Given the description of an element on the screen output the (x, y) to click on. 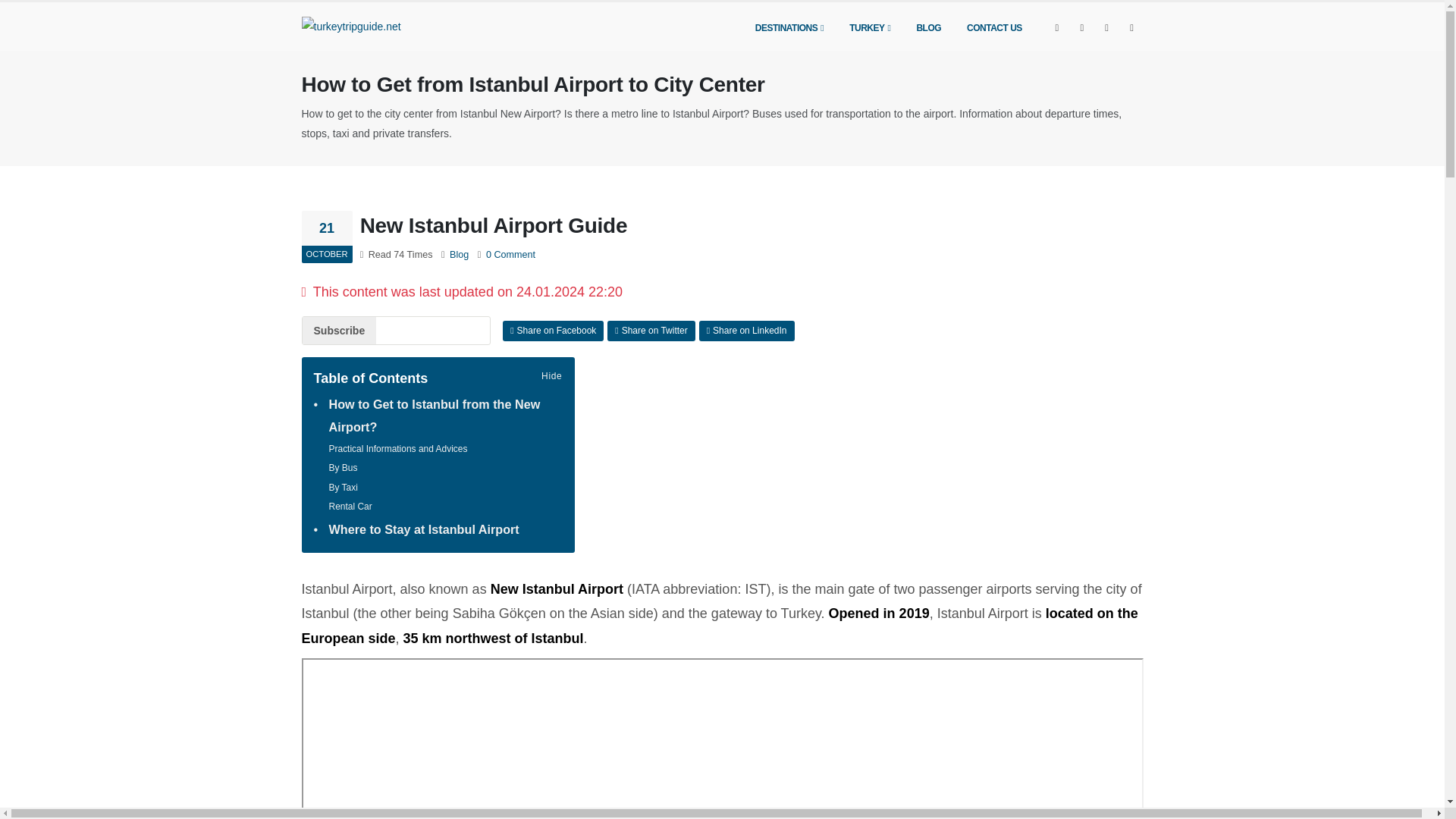
Pinterest (1131, 26)
Twitter (1082, 26)
Where to Stay at Istanbul Airport (424, 529)
Share on Twitter (651, 331)
0 Comment (510, 254)
Instagram (1107, 26)
Practical Informations and Advices (398, 449)
DESTINATIONS (788, 27)
How to Get to Istanbul from the New Airport? (445, 415)
By Bus (343, 468)
